Given the description of an element on the screen output the (x, y) to click on. 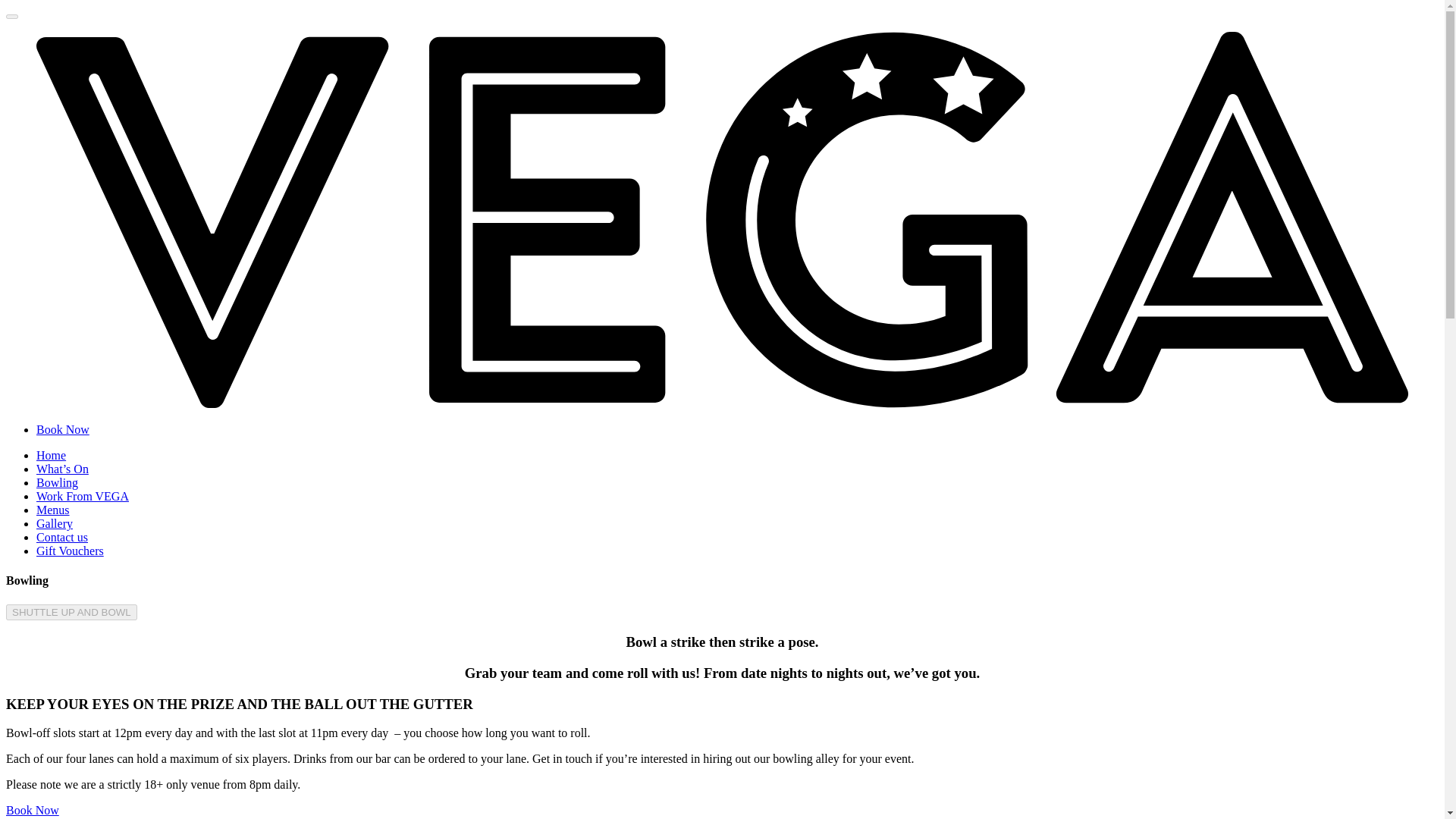
Book Now (32, 809)
SHUTTLE UP AND BOWL (70, 611)
Work From VEGA (82, 495)
Work From VEGA (82, 495)
Menus (52, 509)
Bowling (57, 481)
Book Now (62, 429)
Gift Vouchers (69, 550)
Menus (52, 509)
Book Now (62, 429)
